Given the description of an element on the screen output the (x, y) to click on. 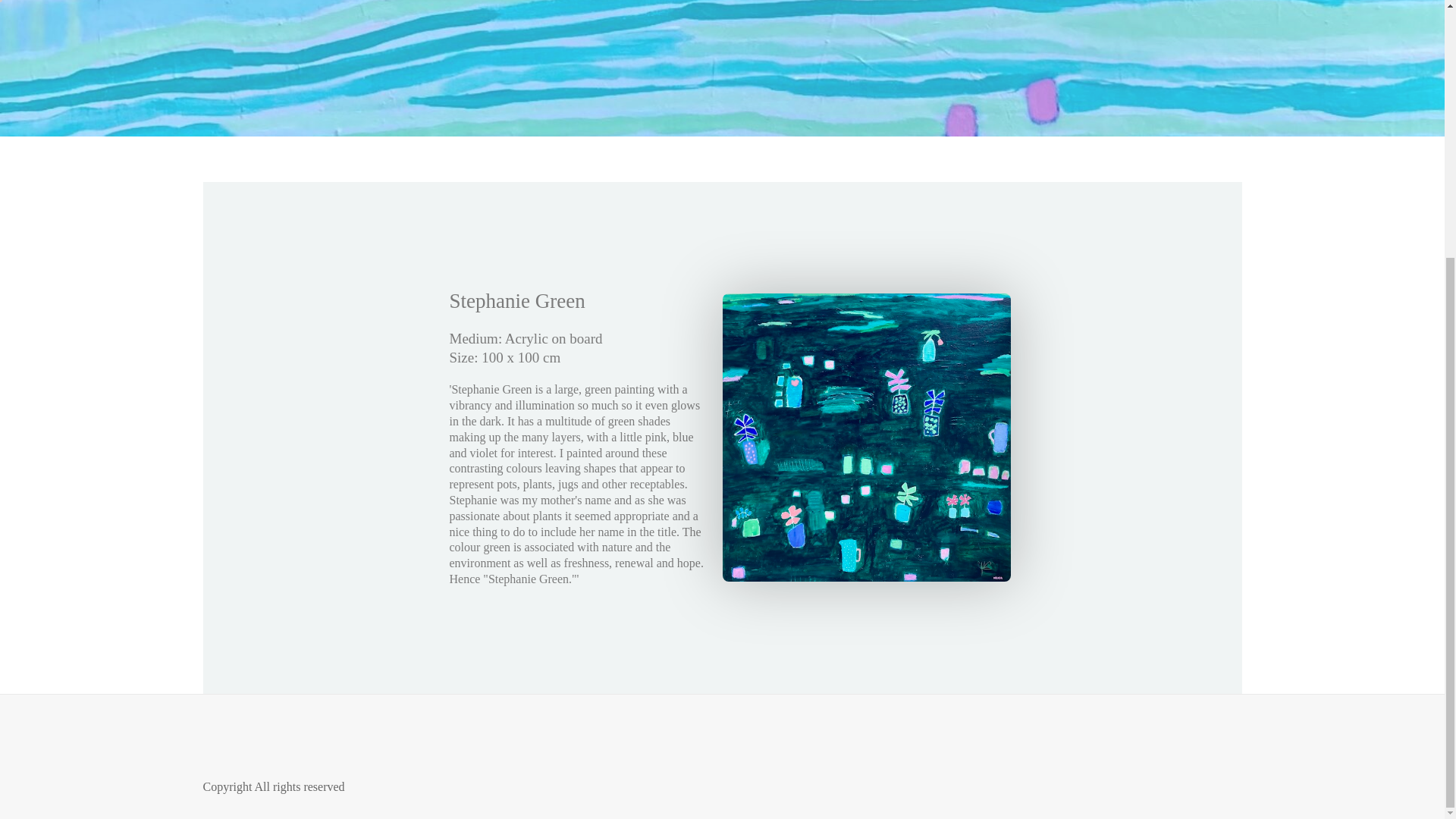
Search (797, 41)
